Given the description of an element on the screen output the (x, y) to click on. 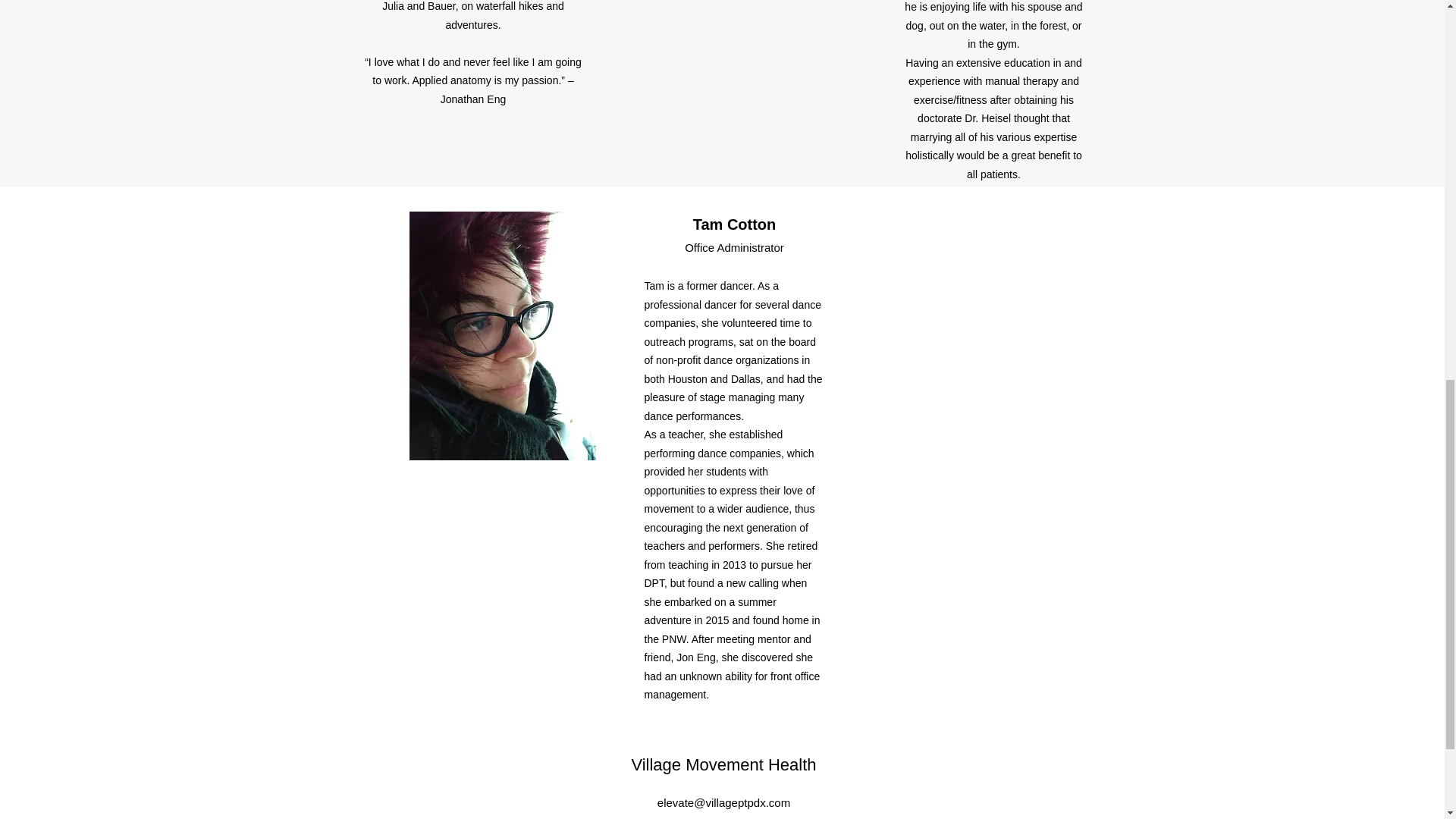
Village Movement Health (722, 764)
